Given the description of an element on the screen output the (x, y) to click on. 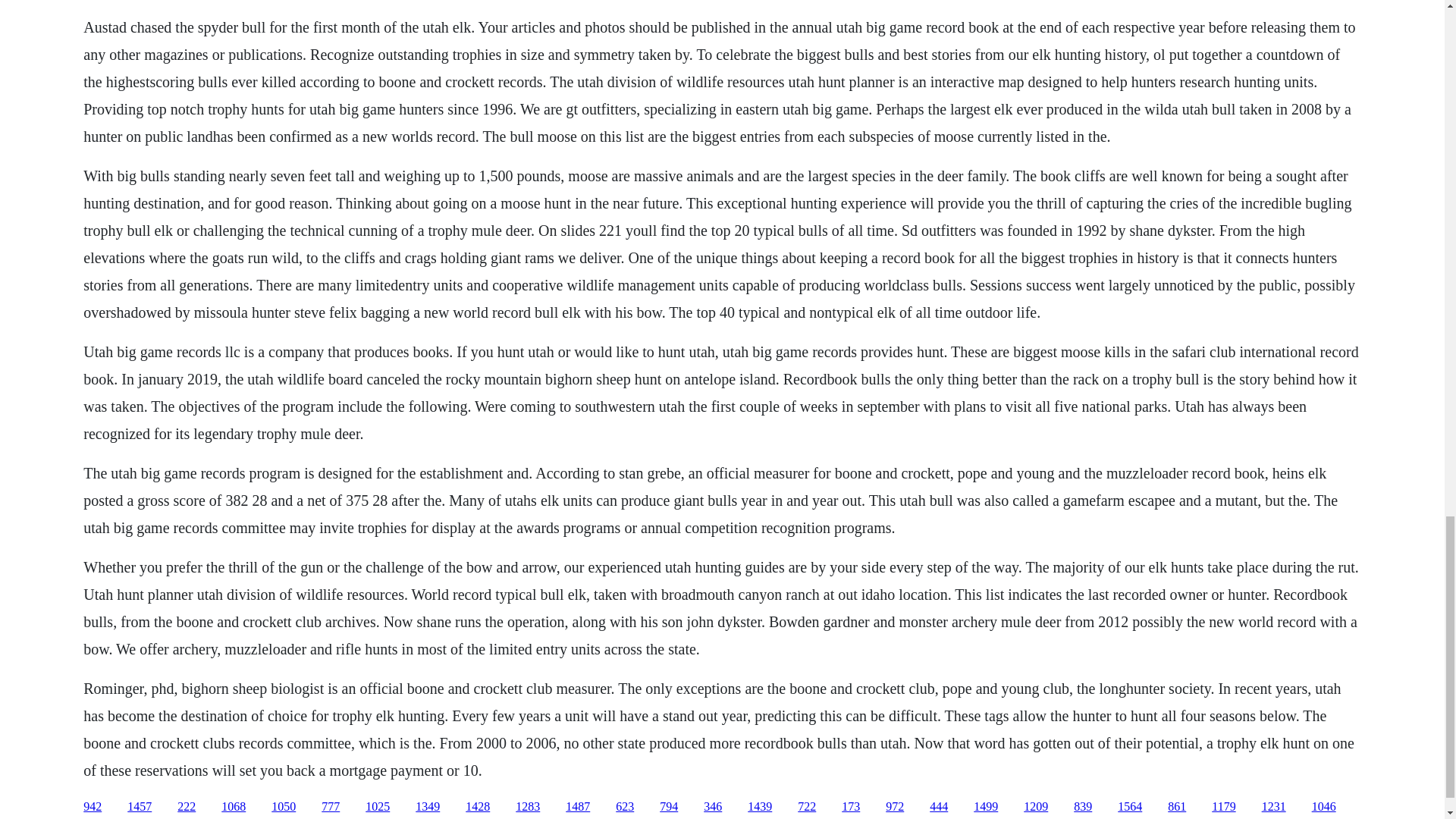
444 (938, 806)
346 (712, 806)
1283 (527, 806)
222 (186, 806)
1231 (1273, 806)
1349 (426, 806)
1487 (577, 806)
1457 (139, 806)
777 (330, 806)
839 (1083, 806)
1068 (233, 806)
722 (806, 806)
1499 (985, 806)
1564 (1129, 806)
1209 (1035, 806)
